Given the description of an element on the screen output the (x, y) to click on. 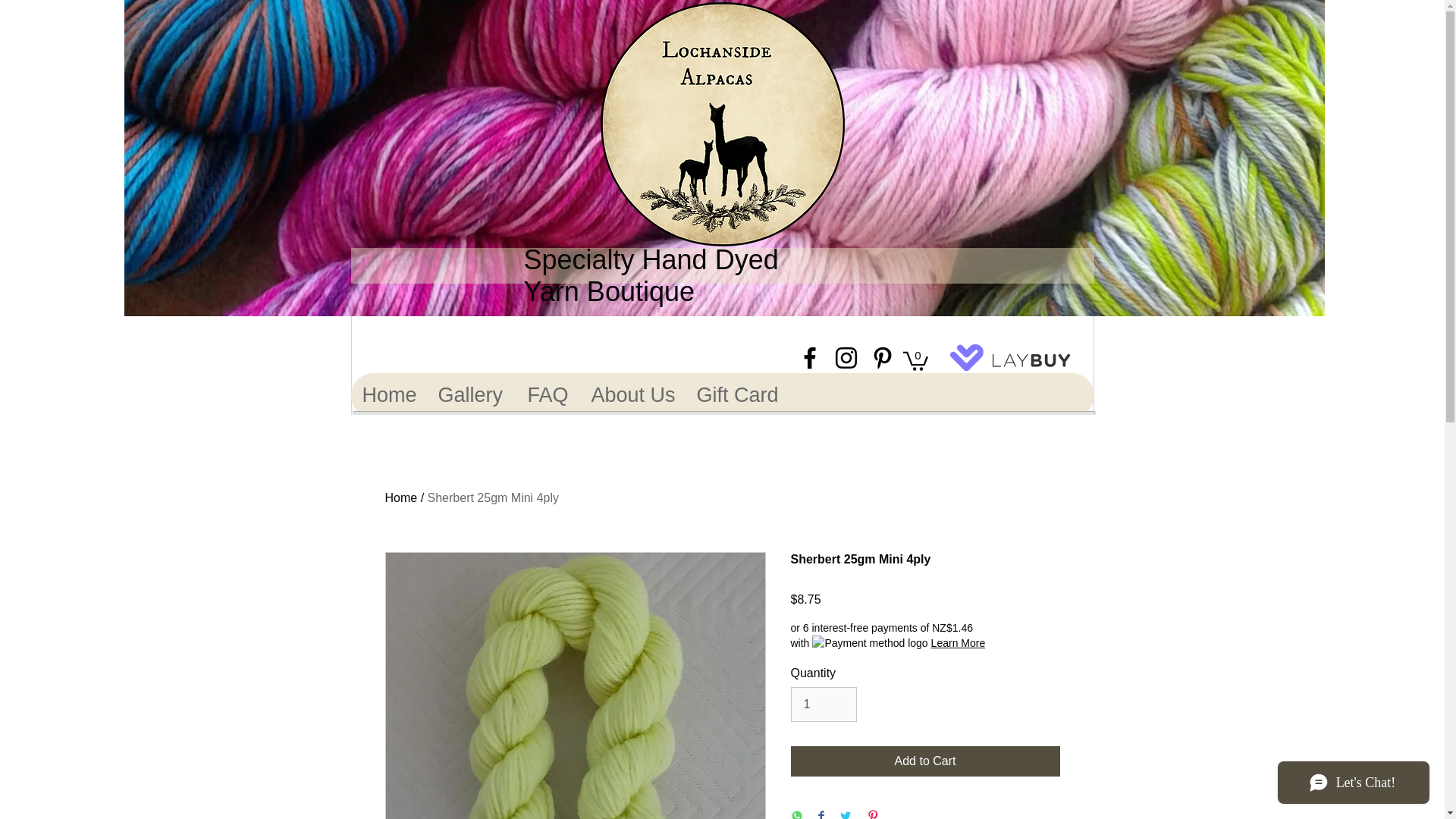
Gift Card (737, 395)
1 (823, 704)
Sherbert 25gm Mini 4ply (493, 497)
Site Search (397, 357)
FAQ (547, 395)
Learn More (958, 642)
0 (914, 359)
Home (401, 497)
Home (387, 395)
0 (914, 360)
About Us (631, 395)
Gallery (470, 395)
Add to Cart (924, 761)
